Given the description of an element on the screen output the (x, y) to click on. 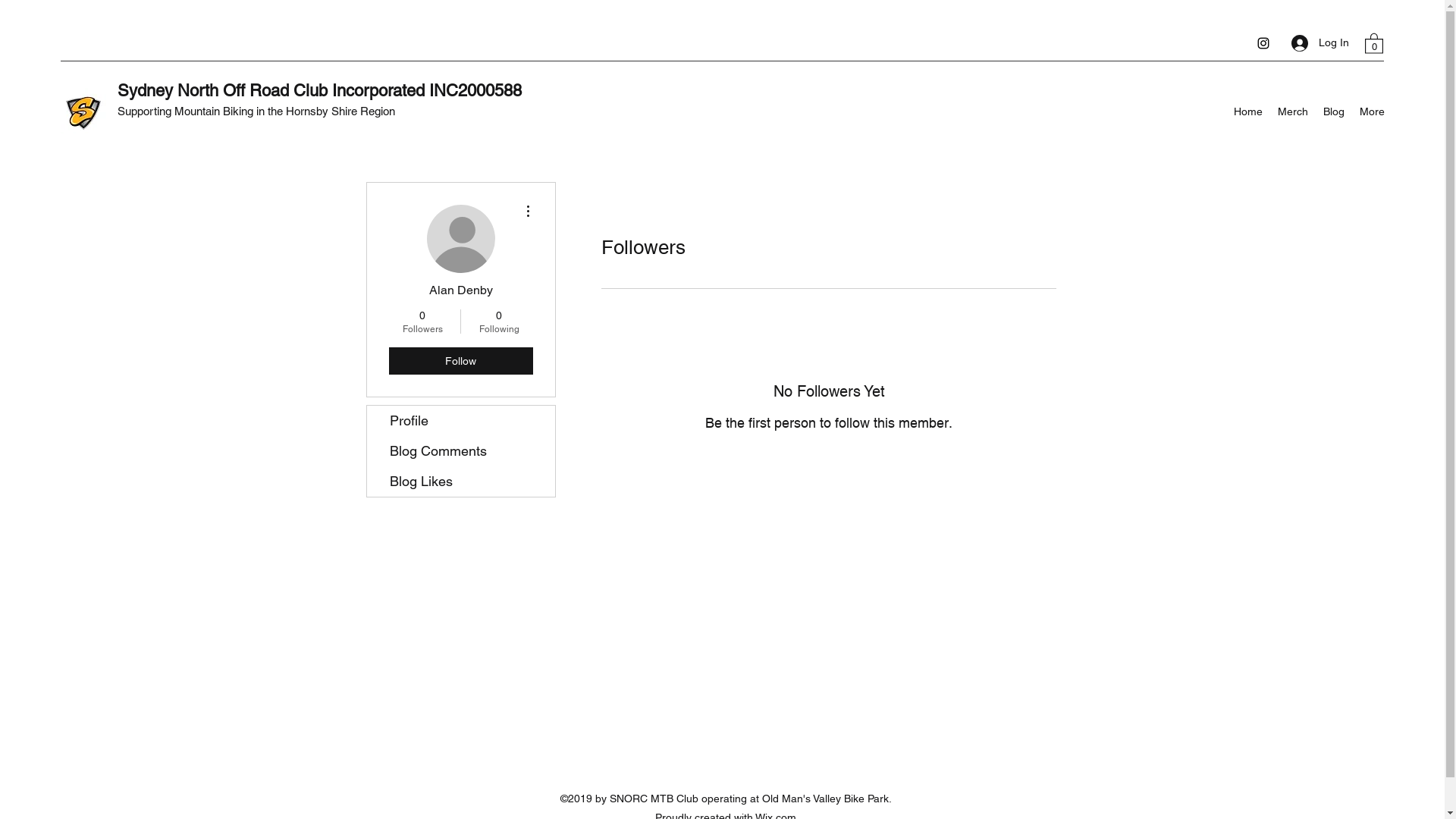
Home Element type: text (1248, 111)
Blog Likes Element type: text (461, 481)
0 Element type: text (1374, 42)
Merch Element type: text (1292, 111)
Follow Element type: text (460, 360)
0
Followers Element type: text (421, 321)
Blog Element type: text (1333, 111)
Followers Element type: hover (827, 471)
Blog Comments Element type: text (461, 451)
0
Following Element type: text (499, 321)
Log In Element type: text (1319, 42)
Profile Element type: text (461, 420)
